Given the description of an element on the screen output the (x, y) to click on. 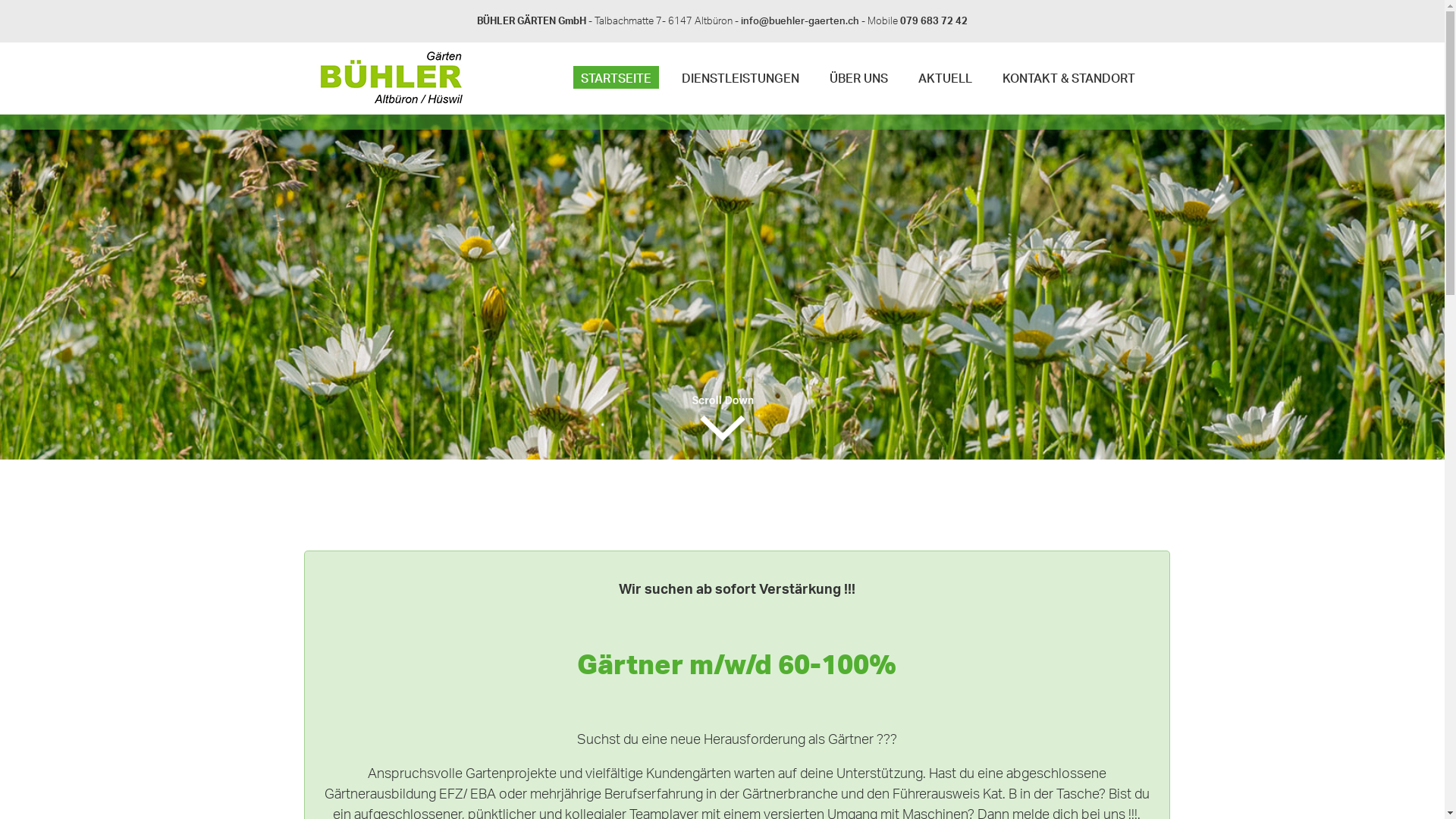
DIENSTLEISTUNGEN Element type: text (739, 65)
info@buehler-gaerten.ch Element type: text (799, 20)
AKTUELL Element type: text (944, 65)
KONTAKT & STANDORT Element type: text (1068, 65)
STARTSEITE Element type: text (615, 65)
